Given the description of an element on the screen output the (x, y) to click on. 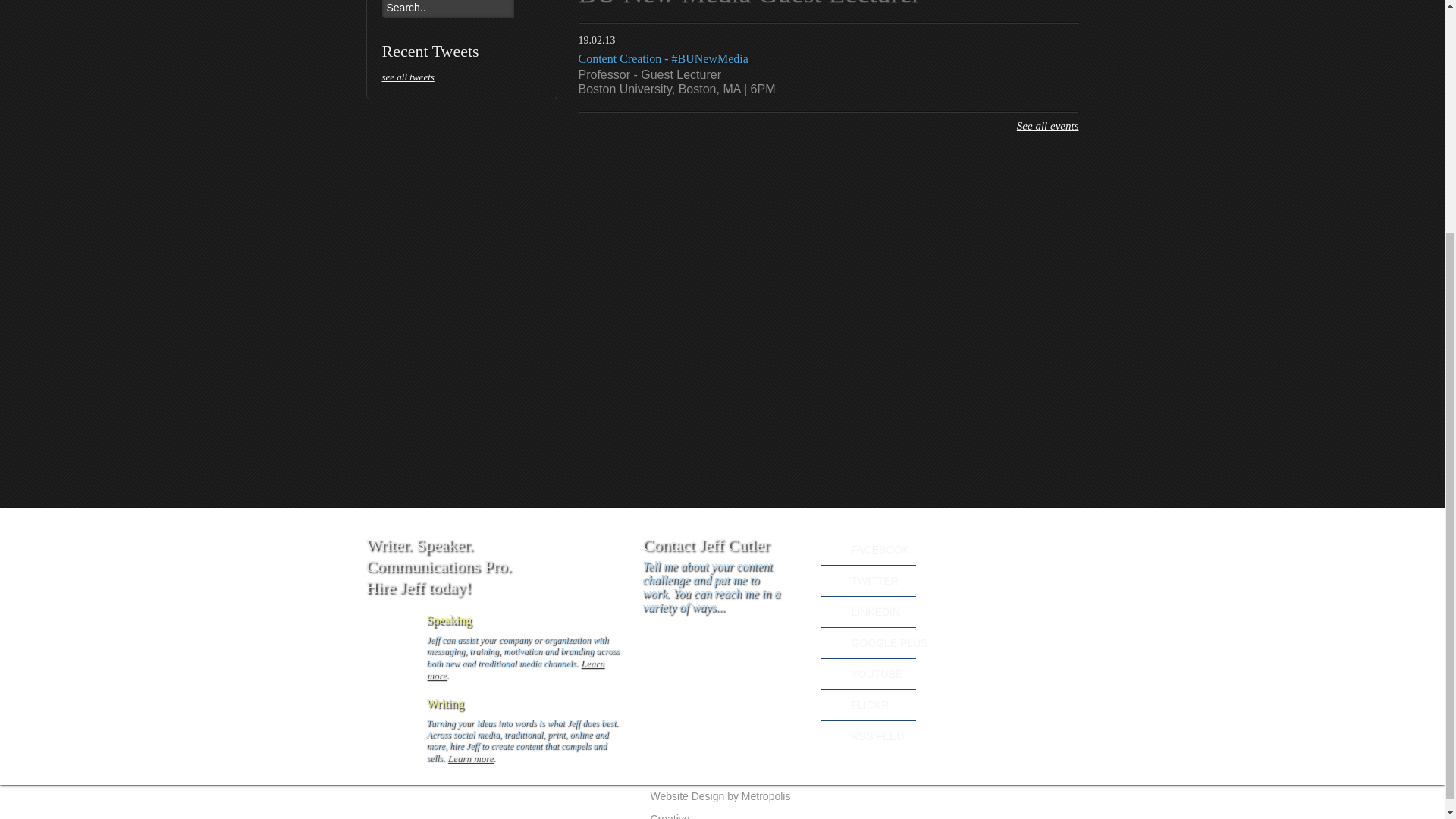
Search.. (447, 9)
Learn more (469, 757)
Learn more (515, 668)
FACEBOOK (832, 549)
see all tweets (461, 77)
TWITTER (832, 580)
RSS FEED (832, 735)
Search.. (447, 9)
FLICKR (832, 704)
Jeff Cutler RSS Feed (832, 735)
Jeff Cutler on Google Plus (832, 642)
LINKEDIN (832, 611)
Jeff Cutler on Facebook (832, 549)
YOUTUBE (832, 673)
GOOGLE PLUS (832, 642)
